Given the description of an element on the screen output the (x, y) to click on. 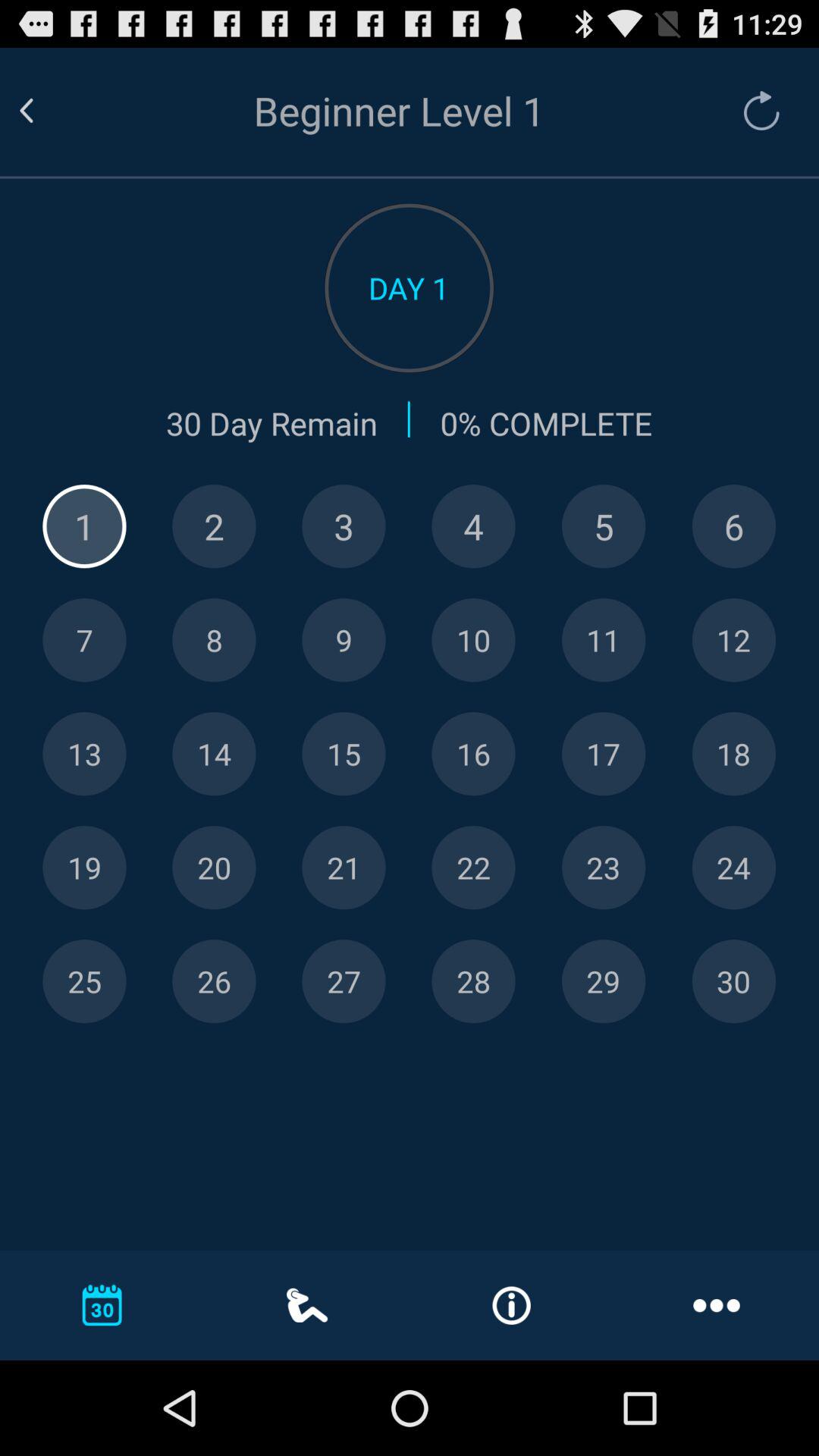
choose number (343, 867)
